Given the description of an element on the screen output the (x, y) to click on. 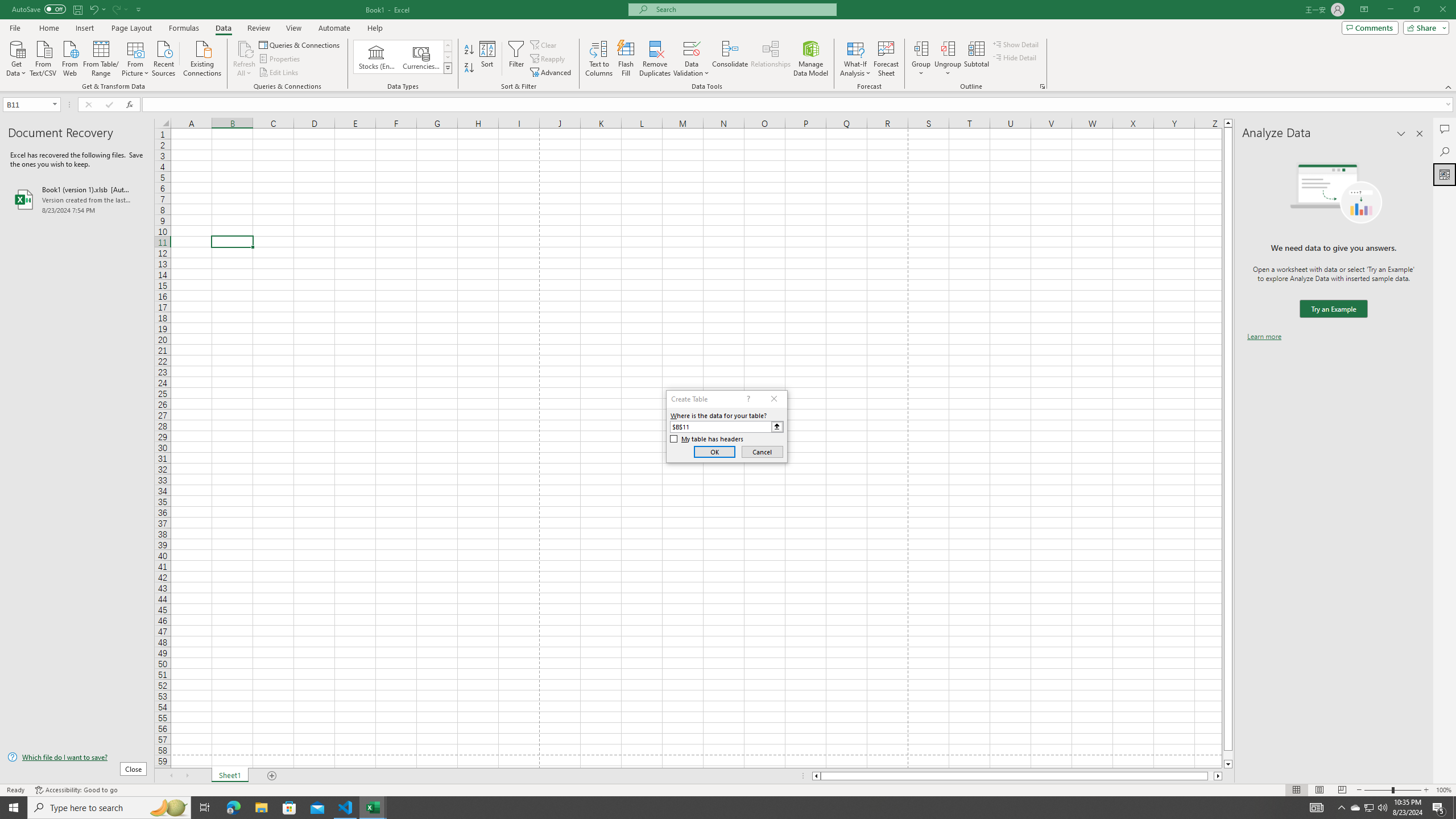
Save (77, 9)
Column left (815, 775)
Data (223, 28)
From Web (69, 57)
Review (258, 28)
Undo (96, 9)
Line up (1228, 122)
AutomationID: ConvertToLinkedEntity (403, 56)
From Table/Range (100, 57)
Automate (334, 28)
Sort Z to A (469, 67)
Name Box (30, 104)
Learn more (1264, 336)
Relationships (770, 58)
View (293, 28)
